Given the description of an element on the screen output the (x, y) to click on. 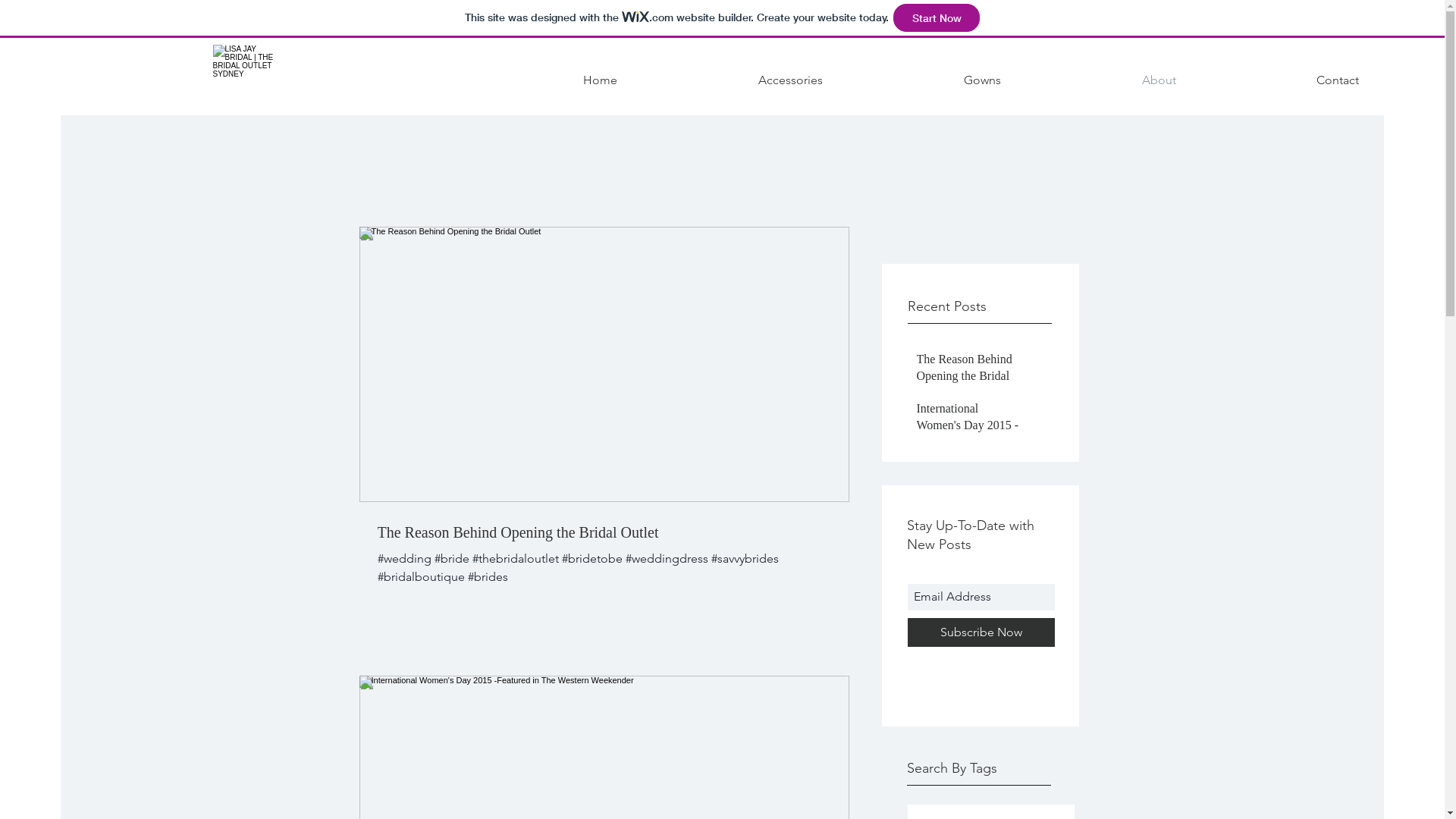
The Reason Behind Opening the Bridal Outlet Element type: text (604, 532)
Accessories Element type: text (790, 79)
Home Element type: text (599, 79)
Subscribe Now Element type: text (980, 632)
The Reason Behind Opening the Bridal Outlet Element type: text (970, 379)
Contact Element type: text (1337, 79)
Gowns Element type: text (982, 79)
About Element type: text (1158, 79)
